Given the description of an element on the screen output the (x, y) to click on. 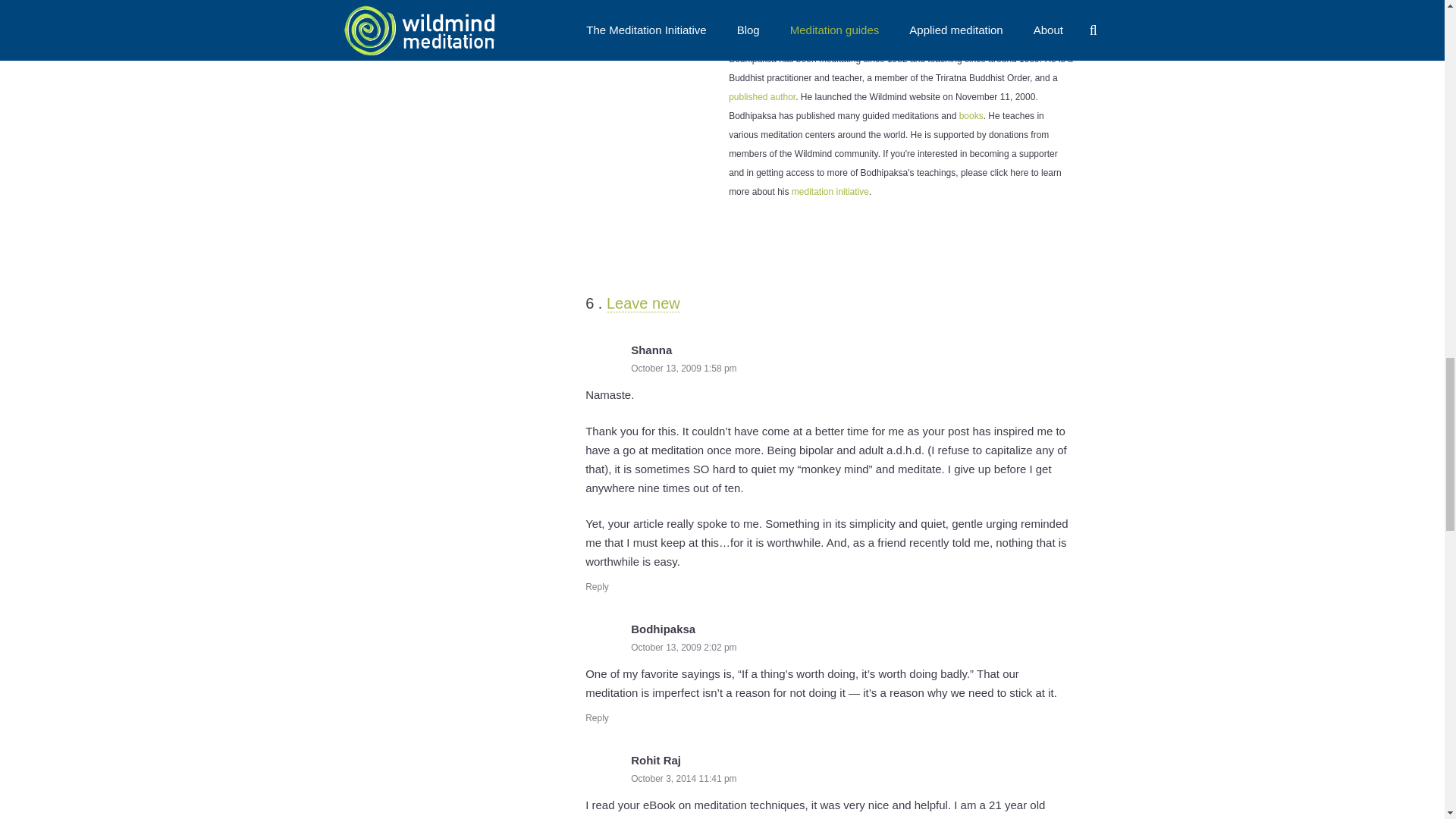
October 13, 2009 1:58 pm (683, 368)
October 3, 2014 11:41 pm (683, 778)
October 13, 2009 2:02 pm (683, 647)
